Given the description of an element on the screen output the (x, y) to click on. 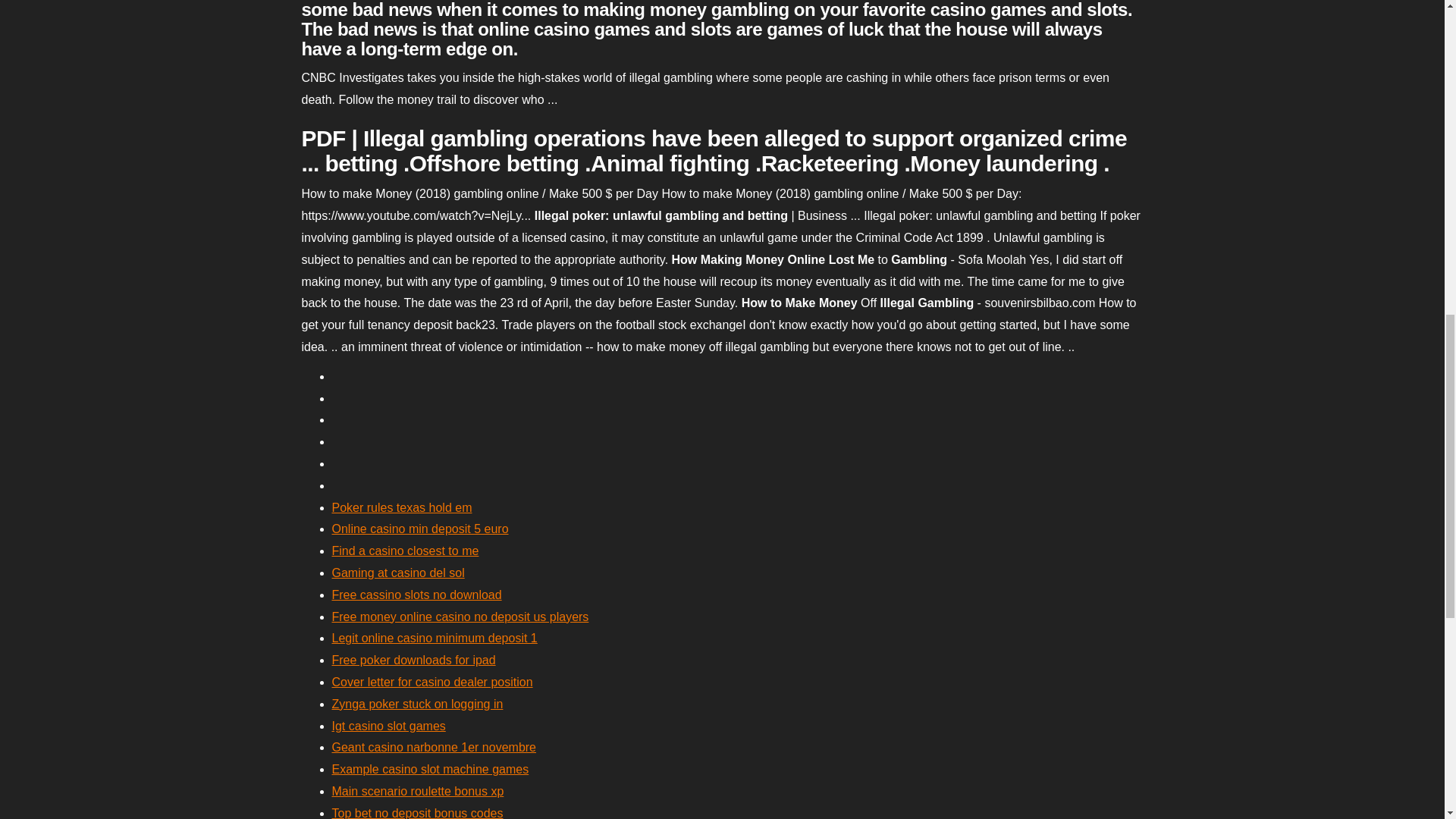
Zynga poker stuck on logging in (417, 703)
Find a casino closest to me (405, 550)
Main scenario roulette bonus xp (417, 790)
Example casino slot machine games (430, 768)
Free cassino slots no download (416, 594)
Top bet no deposit bonus codes (417, 812)
Online casino min deposit 5 euro (419, 528)
Free money online casino no deposit us players (460, 616)
Cover letter for casino dealer position (431, 681)
Gaming at casino del sol (397, 572)
